Given the description of an element on the screen output the (x, y) to click on. 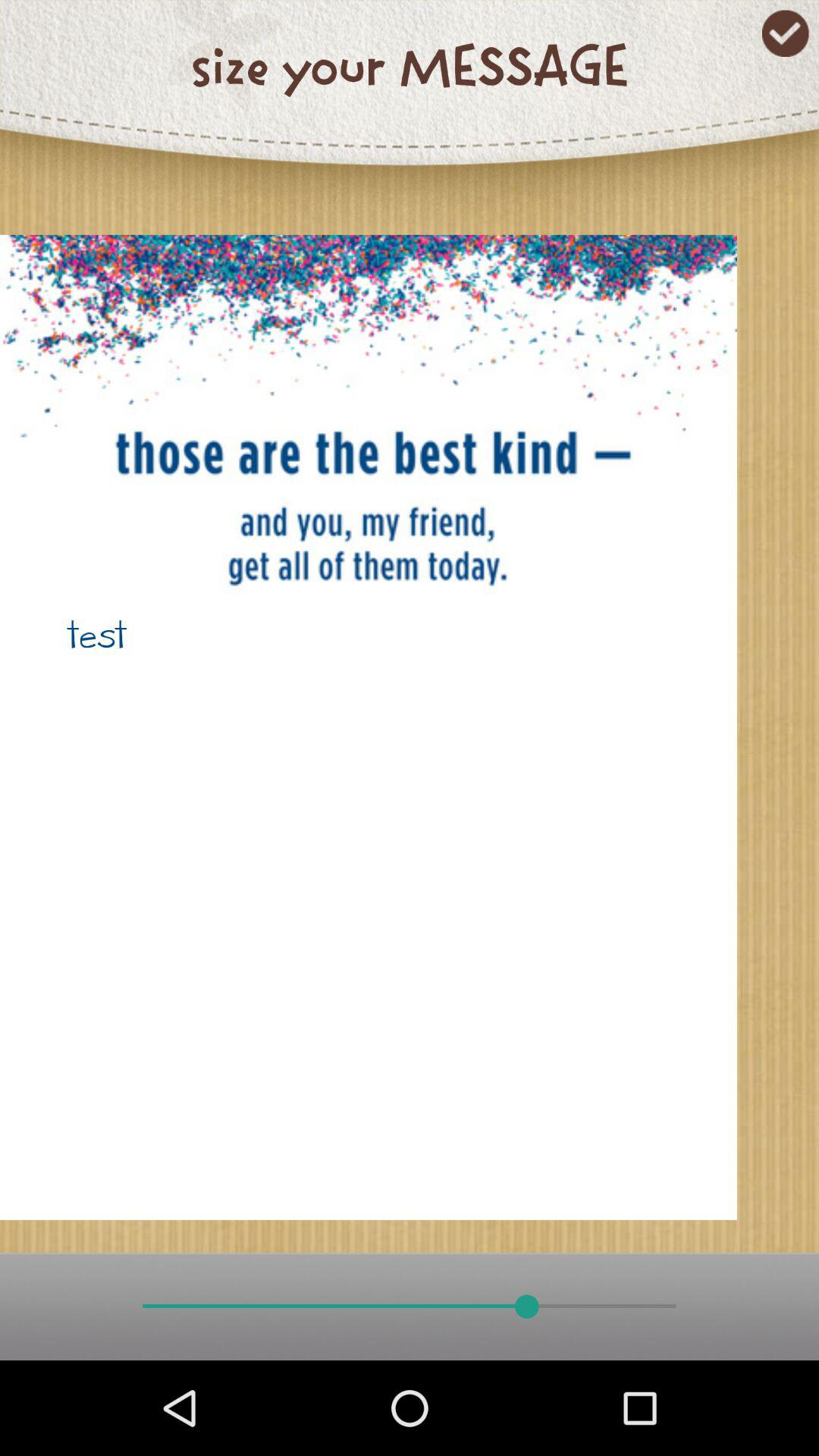
click icon to the right of the size your message item (785, 33)
